Given the description of an element on the screen output the (x, y) to click on. 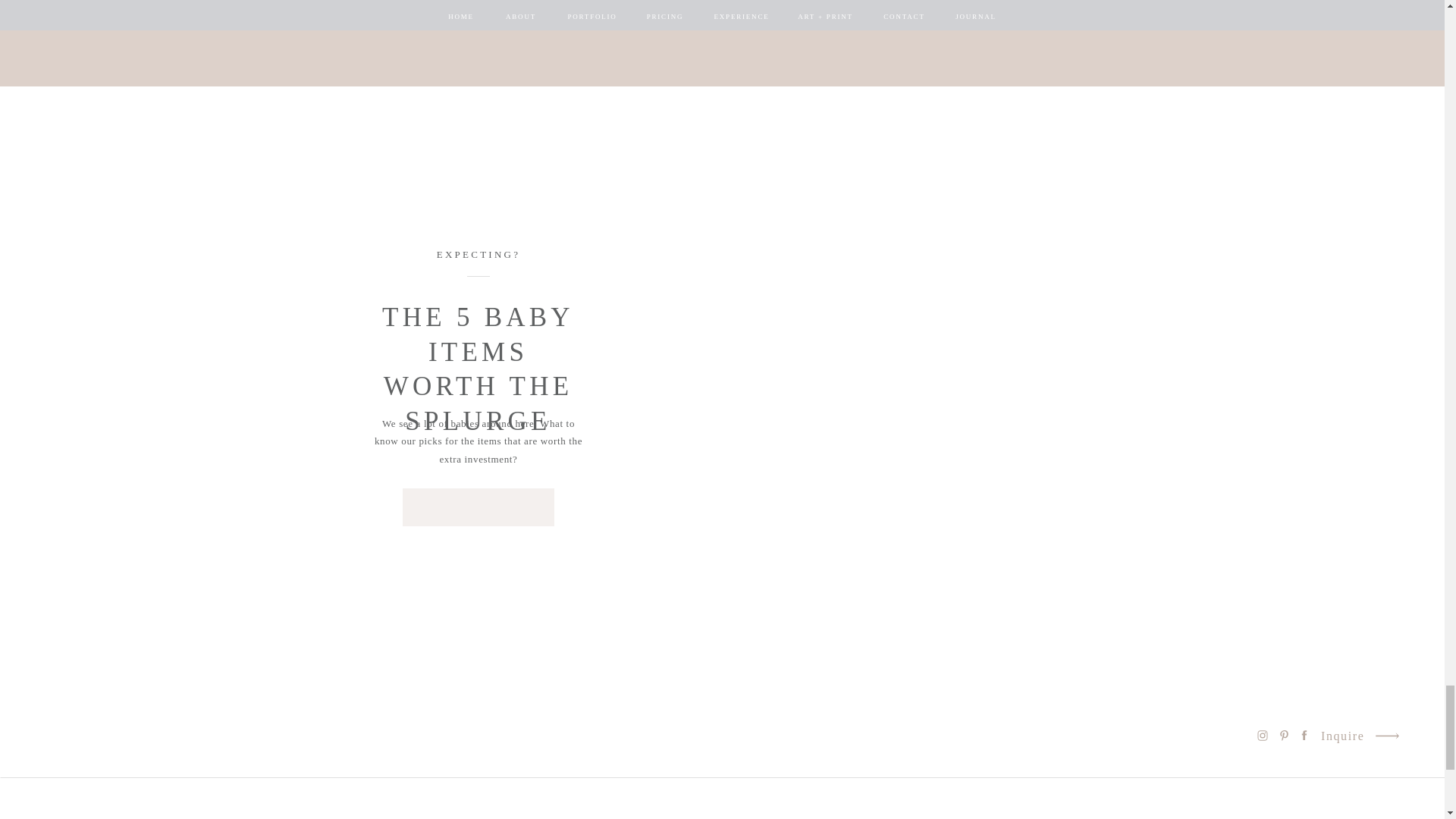
arrow (1386, 735)
